Given the description of an element on the screen output the (x, y) to click on. 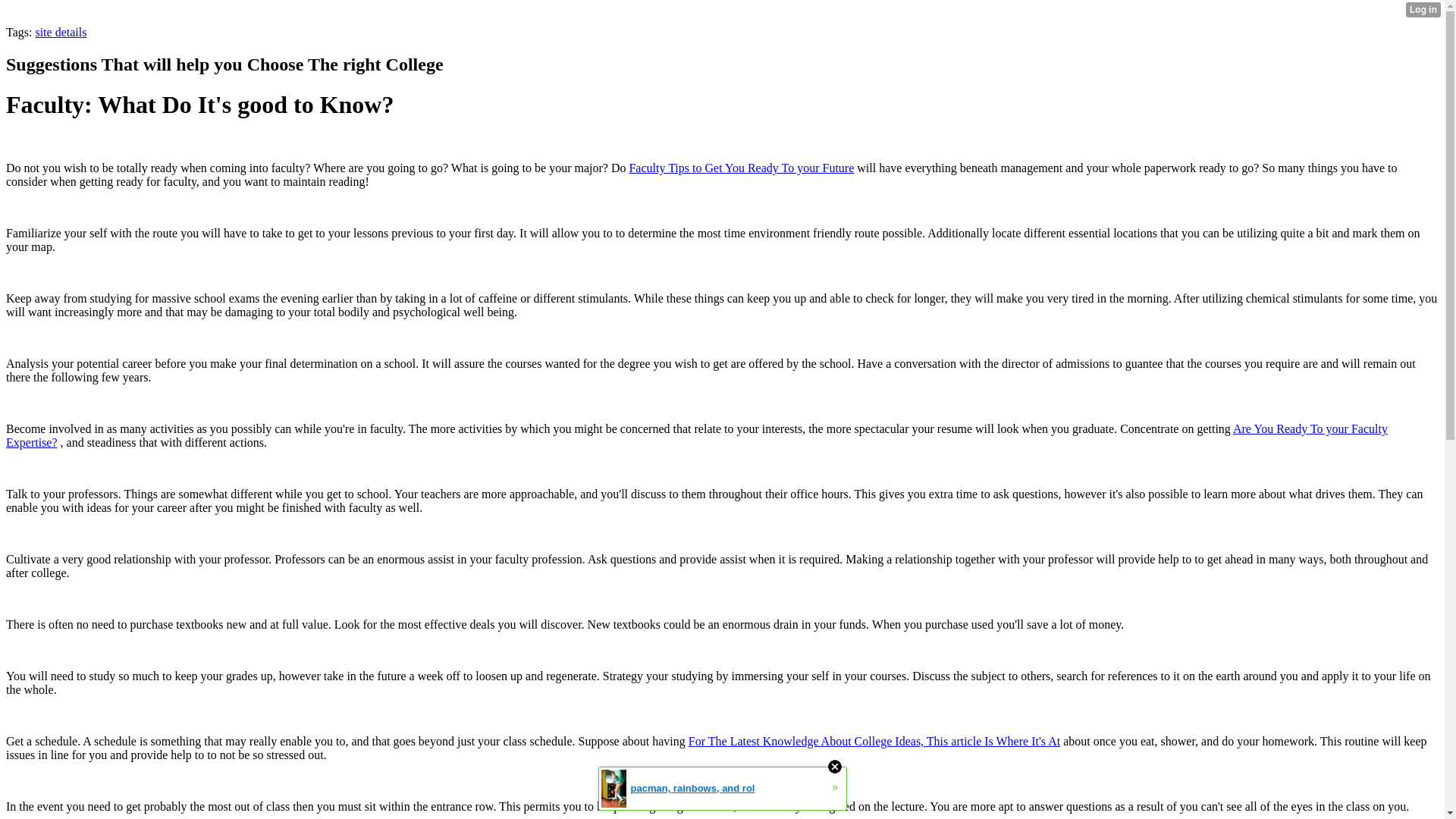
Faculty Tips to Get You Ready To your Future (740, 167)
Are You Ready To your Faculty Expertise? (696, 435)
site details (59, 31)
